Given the description of an element on the screen output the (x, y) to click on. 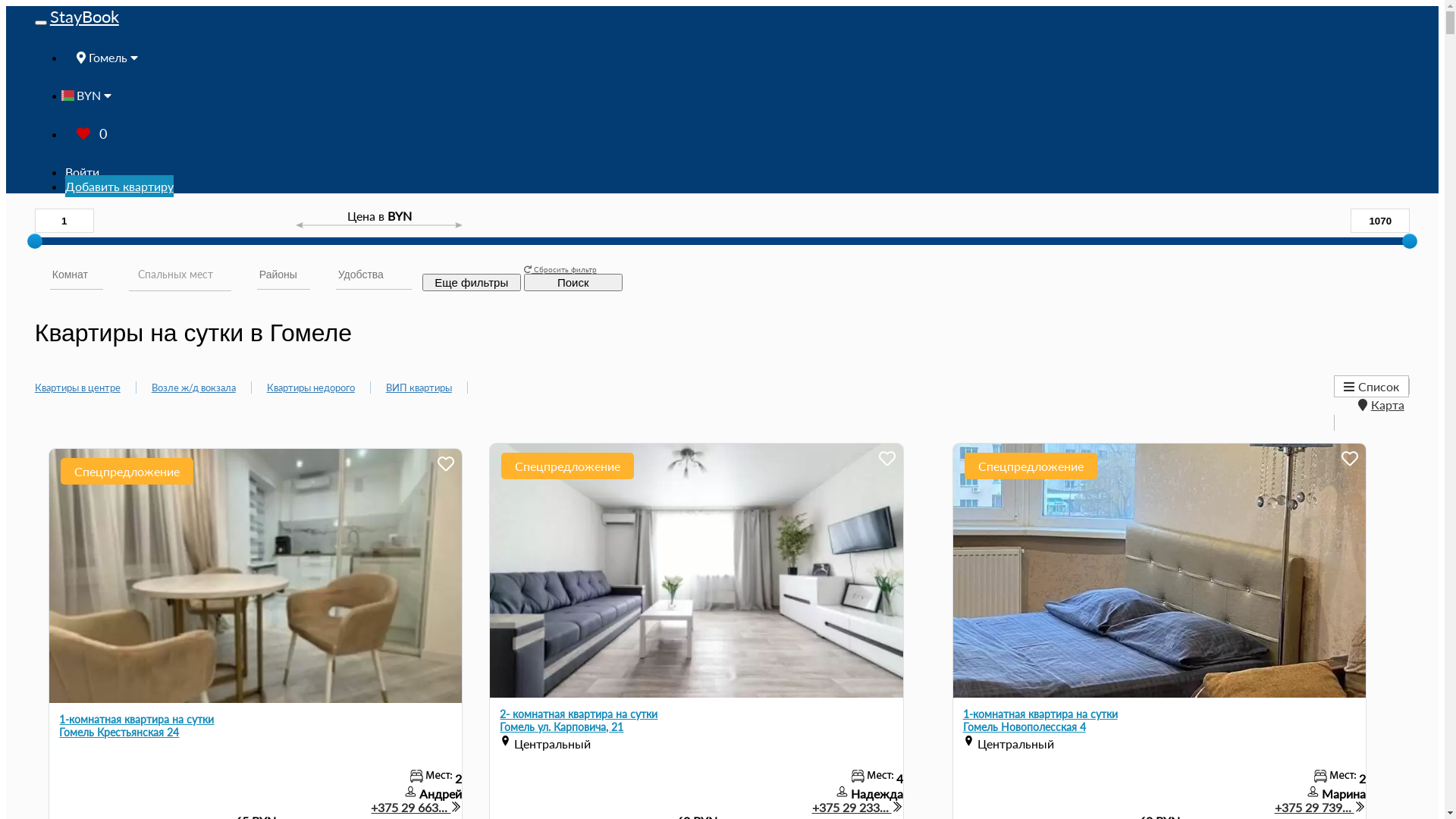
Toggle navigation Element type: text (40, 22)
+375 29 233... Element type: text (857, 807)
+375 29 663... Element type: text (415, 807)
StayBook Element type: text (84, 16)
+375 29 739... Element type: text (1319, 807)
0 Element type: text (91, 133)
